Given the description of an element on the screen output the (x, y) to click on. 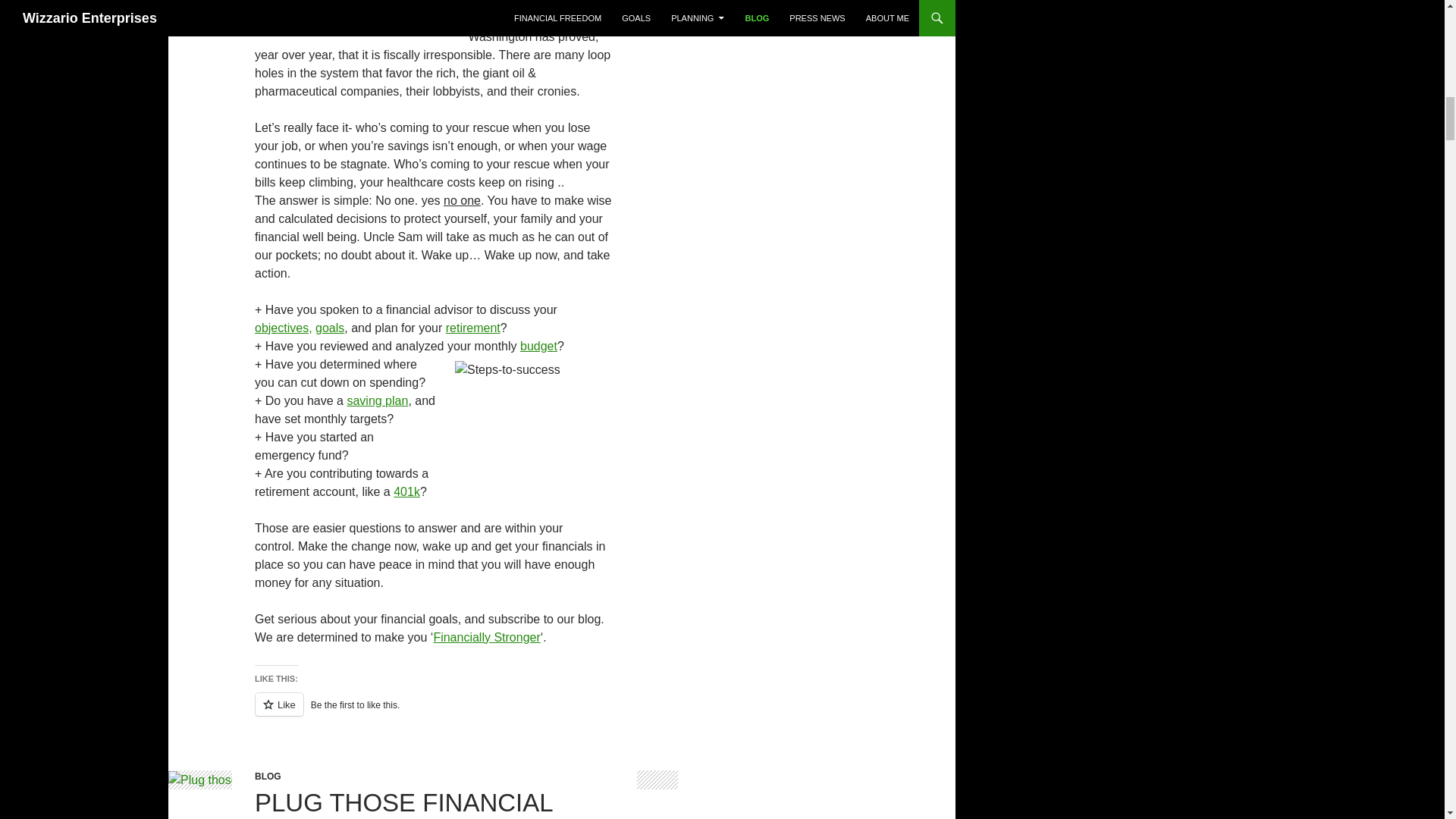
Budget (538, 345)
Goals (329, 327)
401k retirement plan- Quick glance (472, 327)
objectives, (283, 327)
Fidelity Investments (406, 491)
Save (376, 400)
Your Investment Objectives Should Be Clearly Defined (283, 327)
goals (329, 327)
retirement (472, 327)
Welcome (486, 636)
Like or Reblog (434, 712)
